Given the description of an element on the screen output the (x, y) to click on. 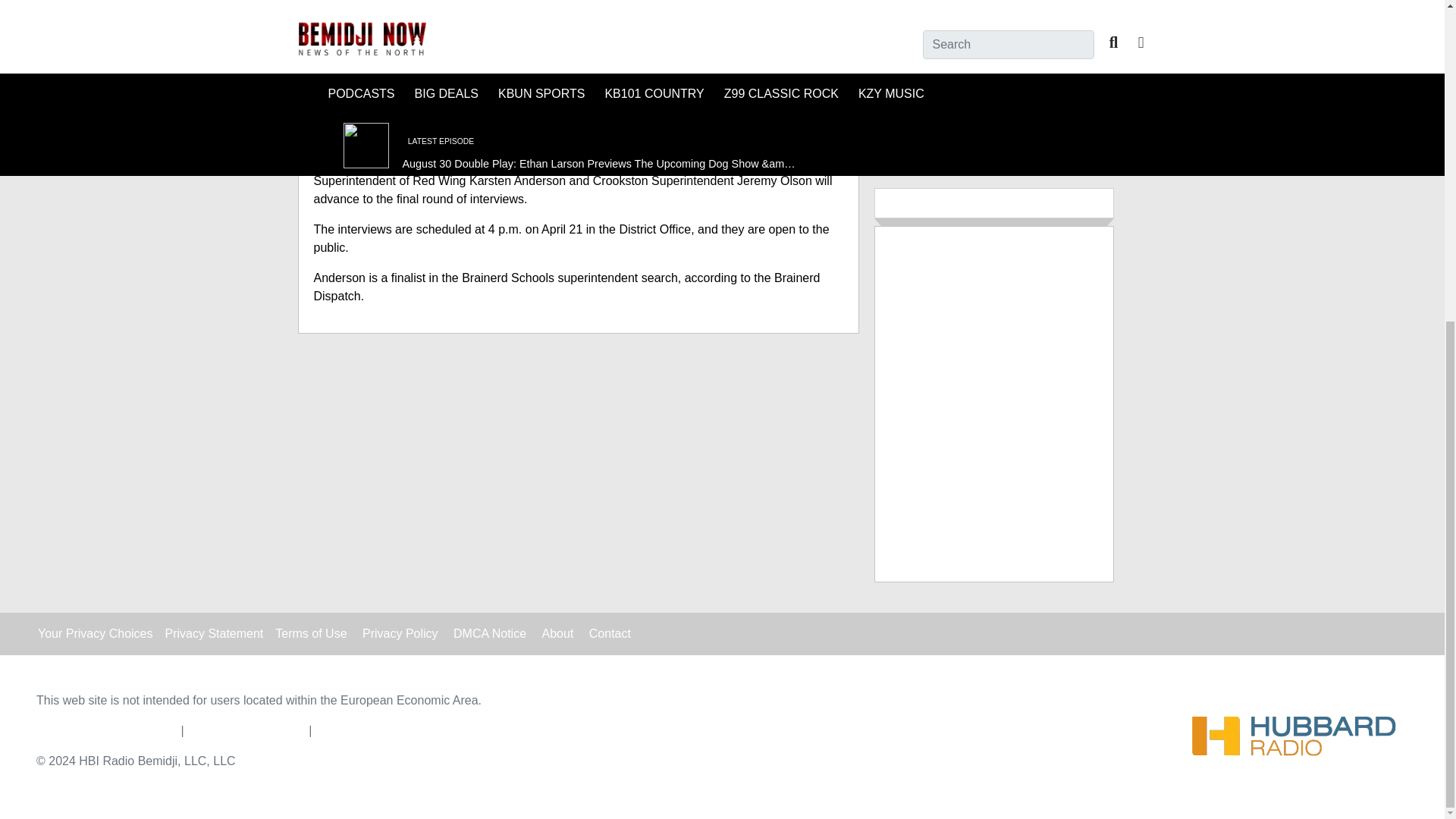
UNITED WAY COATS FOR THE COMMUNITY COLLECTION BEGINS (1039, 33)
according to the Brainerd Dispatch (567, 286)
Your Privacy Choices (94, 632)
MORE (993, 119)
